Given the description of an element on the screen output the (x, y) to click on. 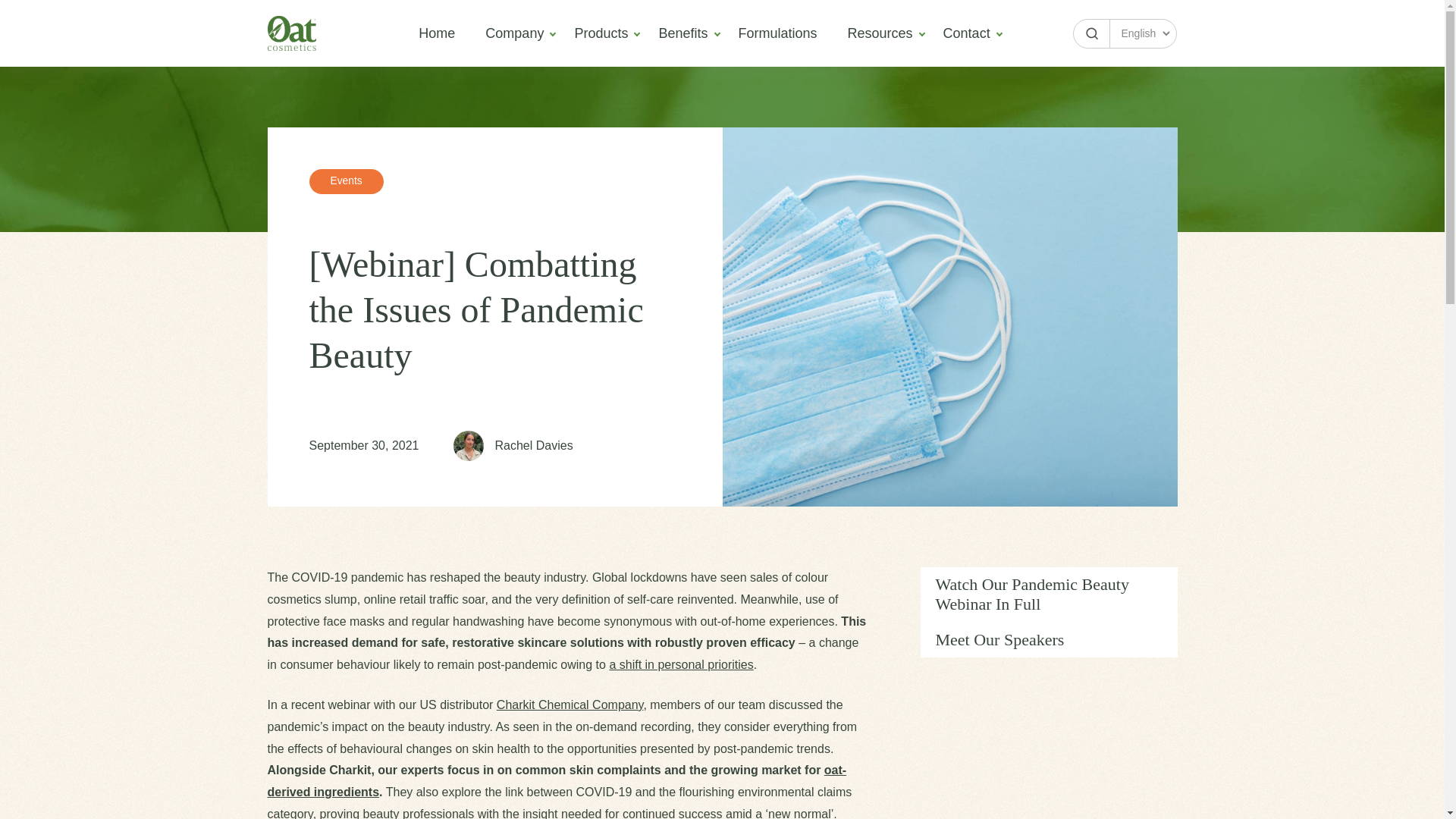
Benefits (682, 32)
Products (1048, 612)
Formulations (1048, 612)
Watch Our Pandemic Beauty Webinar In Full (600, 32)
Resources (777, 32)
Company (1048, 594)
Watch Our Pandemic Beauty Webinar In Full (880, 32)
Contact (514, 32)
Search (1048, 594)
Home (966, 32)
Meet Our Speakers (818, 426)
Meet Our Speakers (436, 32)
